Given the description of an element on the screen output the (x, y) to click on. 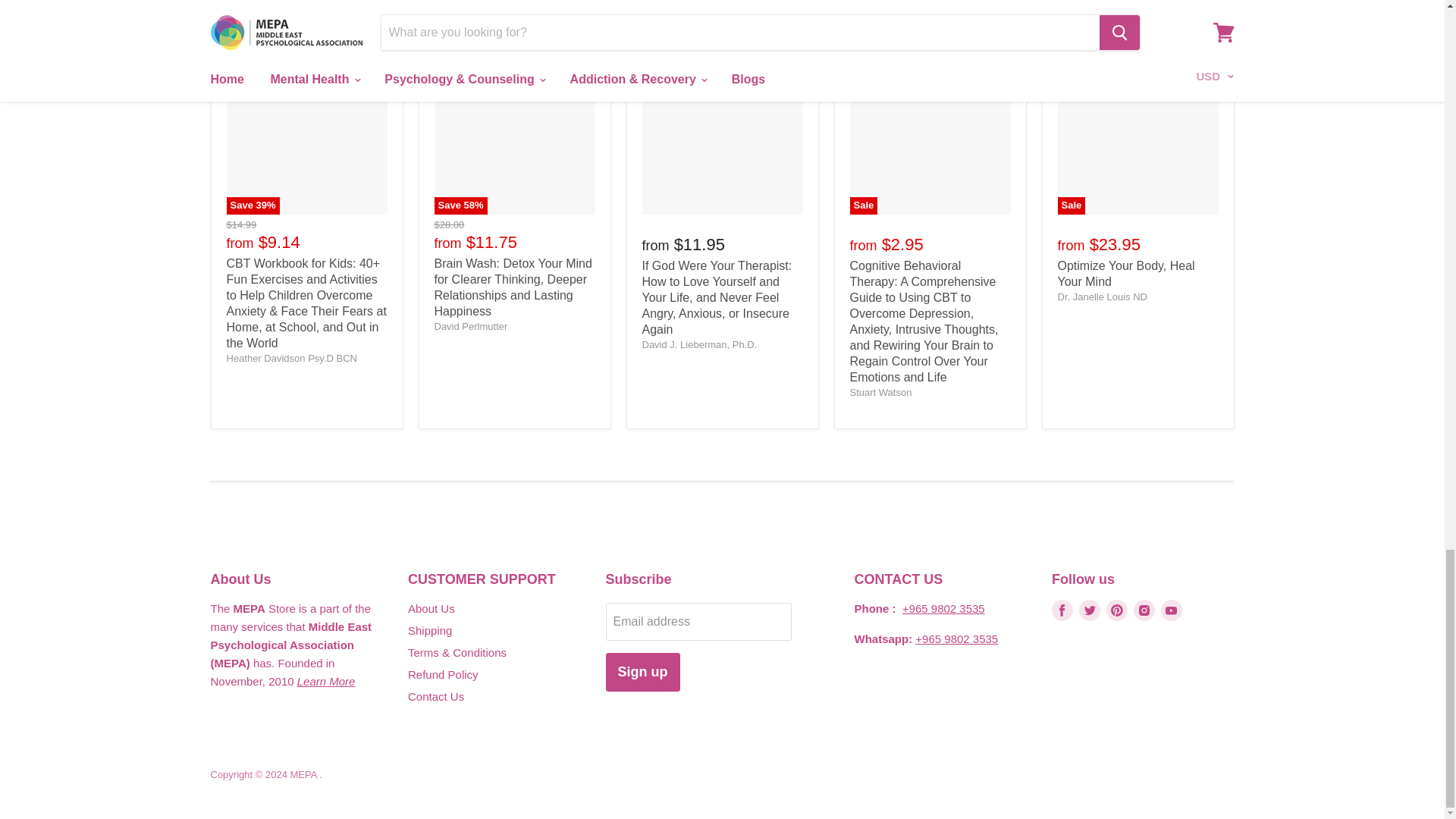
About Us (326, 680)
Pinterest (1117, 610)
Youtube (1171, 610)
Instagram (1144, 610)
Facebook (1061, 610)
Twitter (1089, 610)
